Given the description of an element on the screen output the (x, y) to click on. 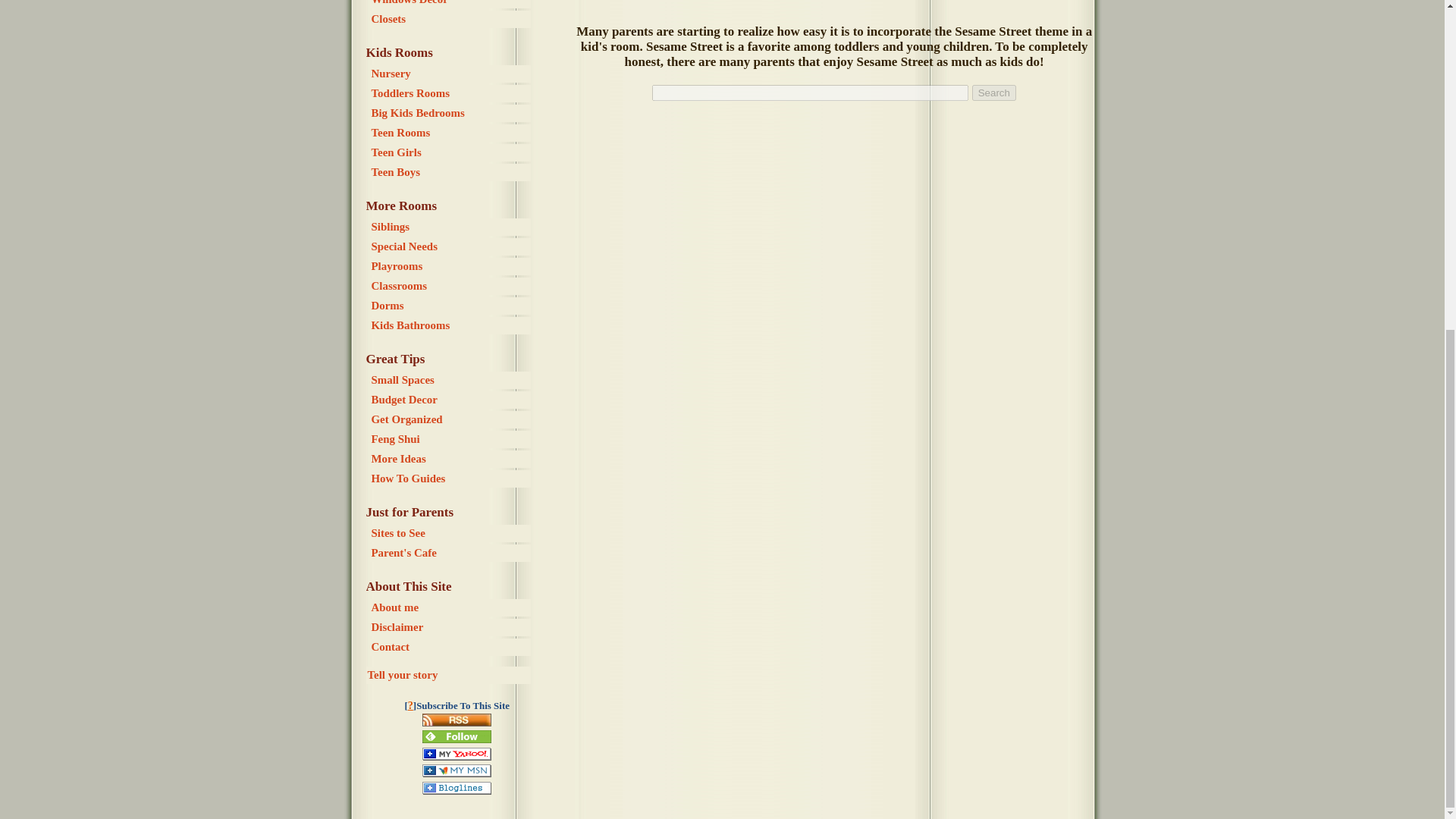
Big Kids Bedrooms (450, 113)
Classrooms (450, 285)
Tell your story (448, 674)
Kids Bathrooms (450, 325)
Search (994, 92)
Contact (450, 647)
Closets (450, 18)
Feng Shui (450, 438)
Small Spaces (450, 380)
Nursery (450, 73)
Windows Decor (450, 4)
Sites to See (450, 533)
Dorms (450, 305)
Teen Rooms (450, 132)
Special Needs (450, 246)
